Given the description of an element on the screen output the (x, y) to click on. 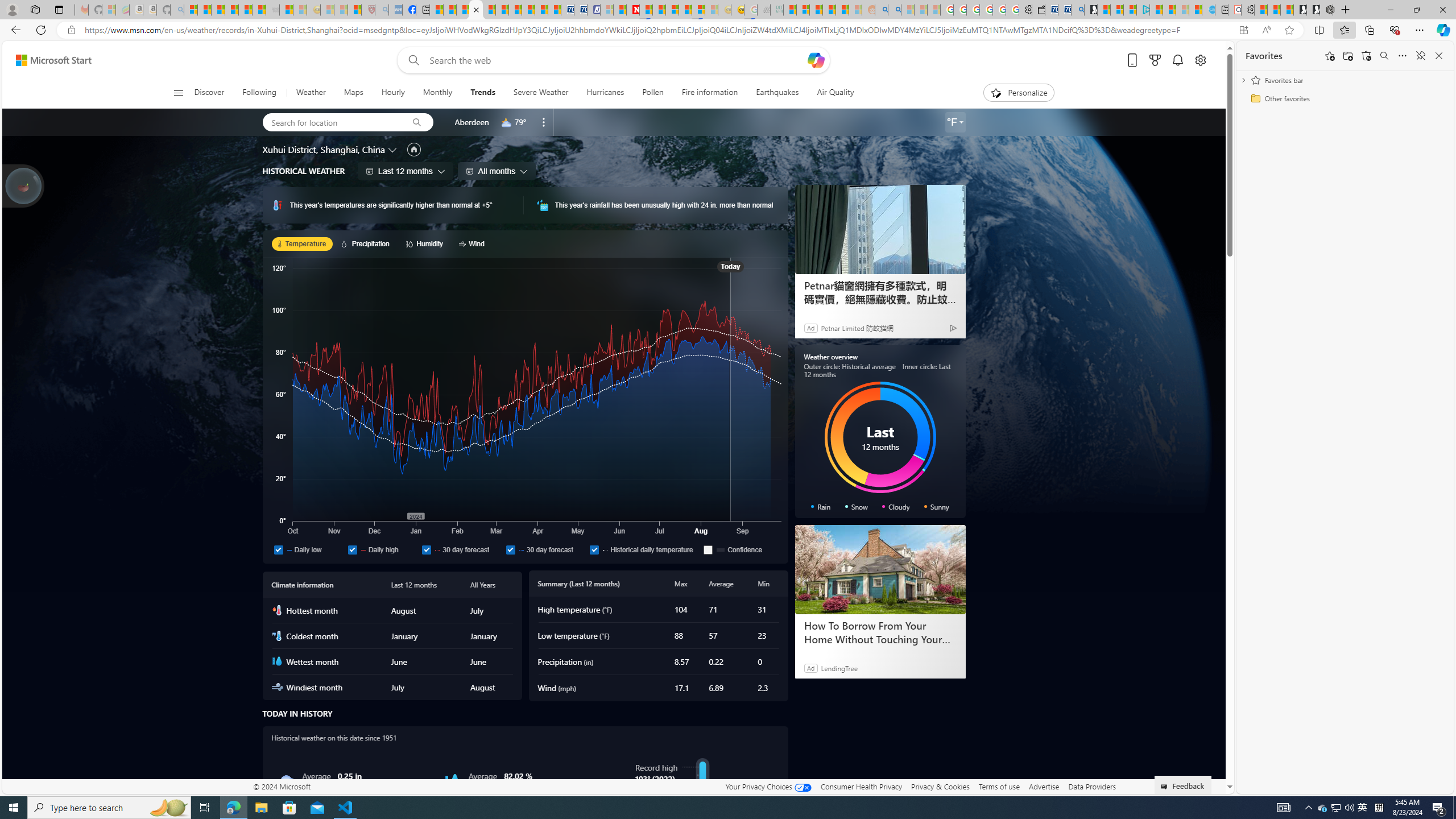
Earthquakes (777, 92)
Fire information (709, 92)
Terms of use (998, 786)
Severe Weather (540, 92)
